Given the description of an element on the screen output the (x, y) to click on. 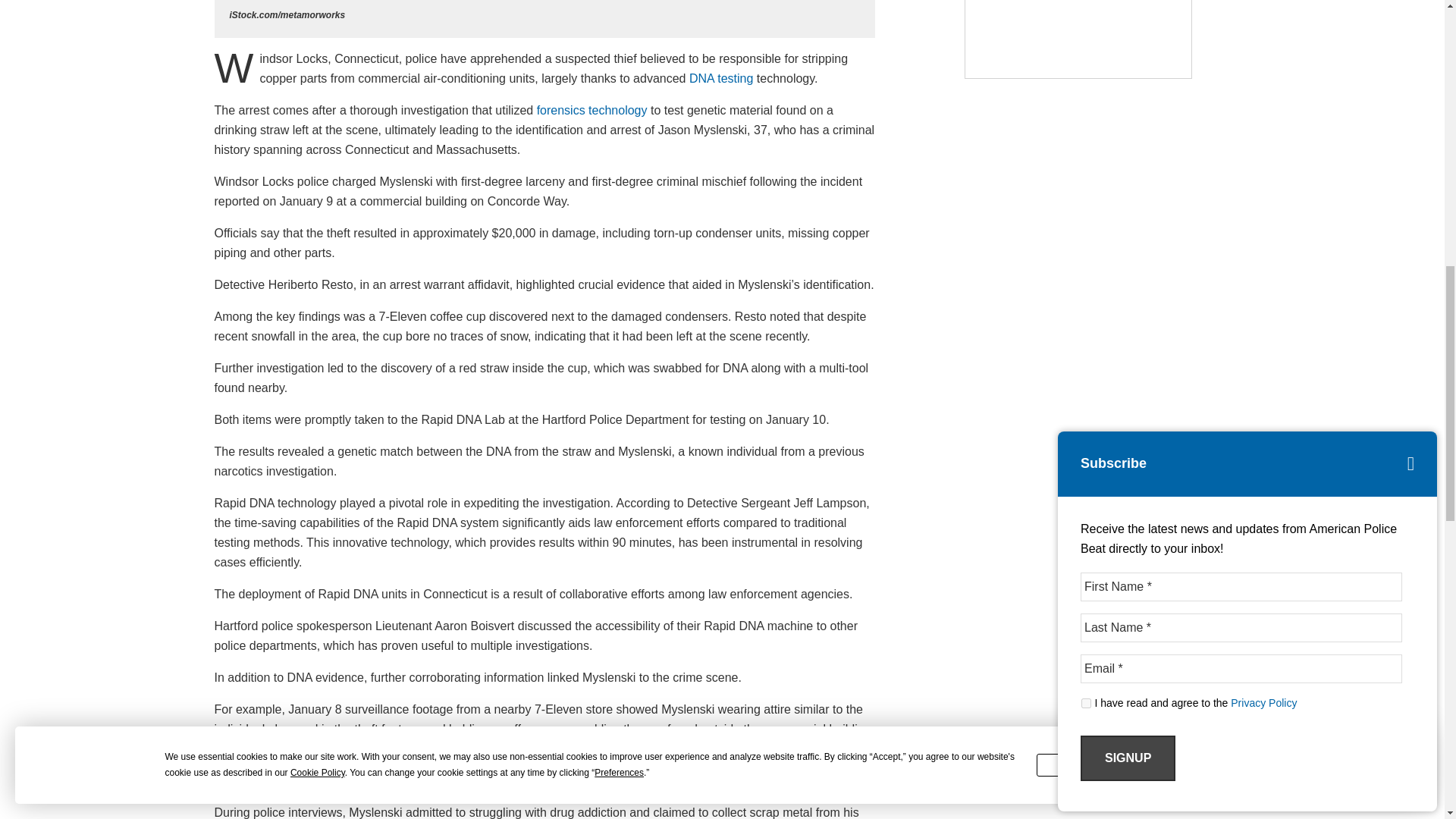
3rd party ad content (1077, 39)
